Given the description of an element on the screen output the (x, y) to click on. 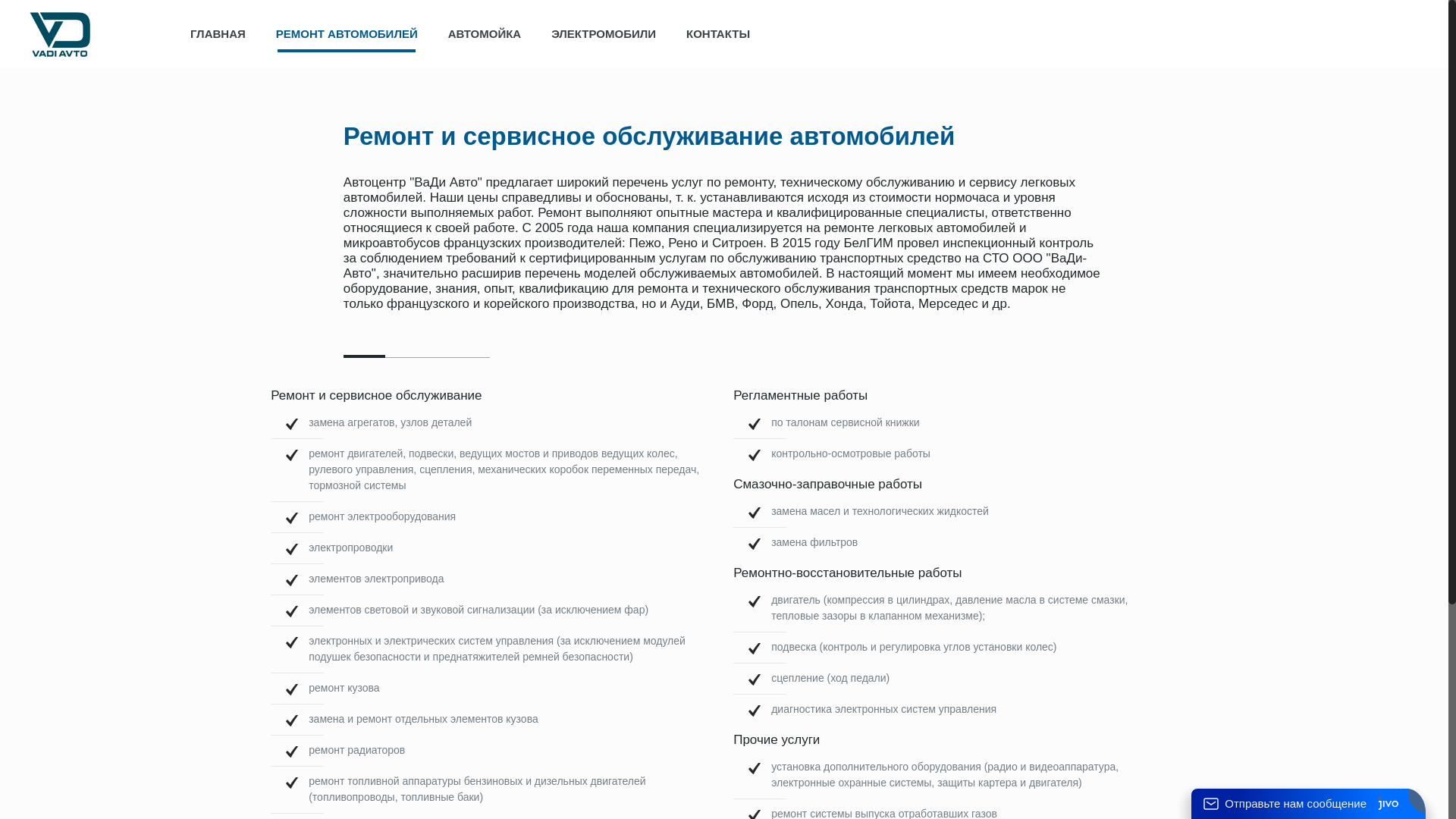
VADI-AVTO Element type: hover (59, 34)
